Given the description of an element on the screen output the (x, y) to click on. 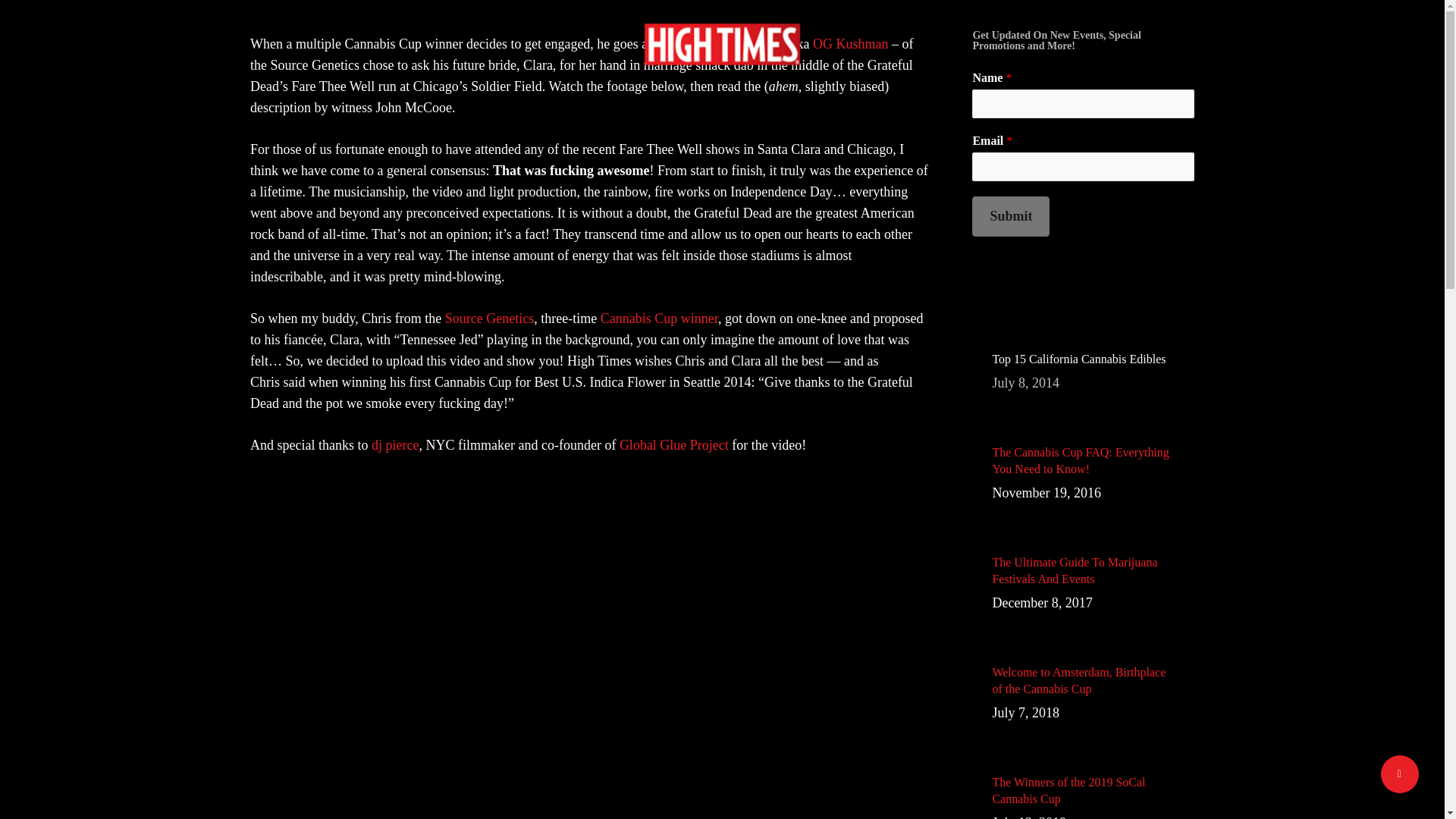
Global Glue Project (674, 444)
Cannabis Cup winner (658, 318)
OG Kushman (1082, 372)
Submit (850, 43)
dj pierce (1010, 216)
